Given the description of an element on the screen output the (x, y) to click on. 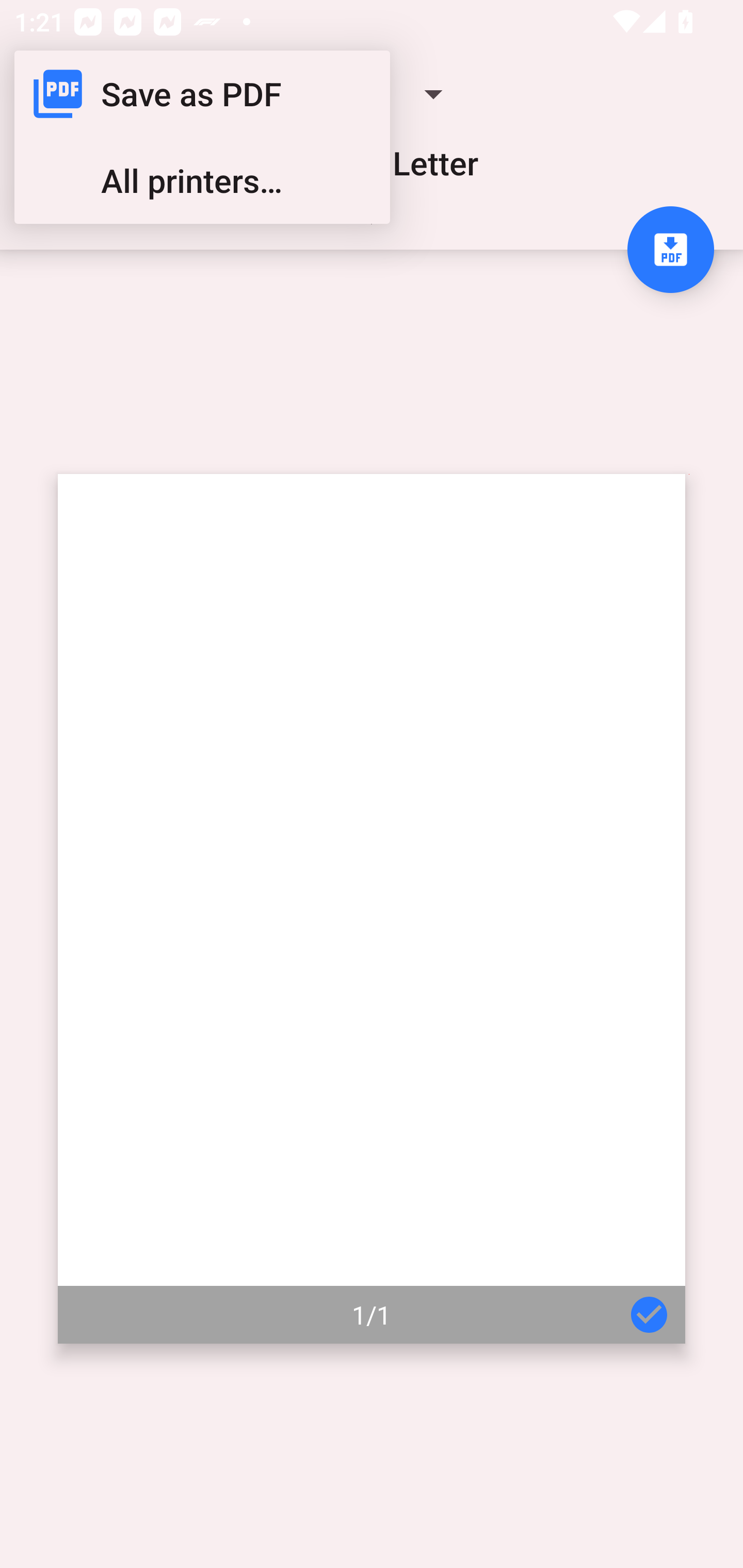
Save as PDF (202, 93)
All printers… (202, 180)
